Given the description of an element on the screen output the (x, y) to click on. 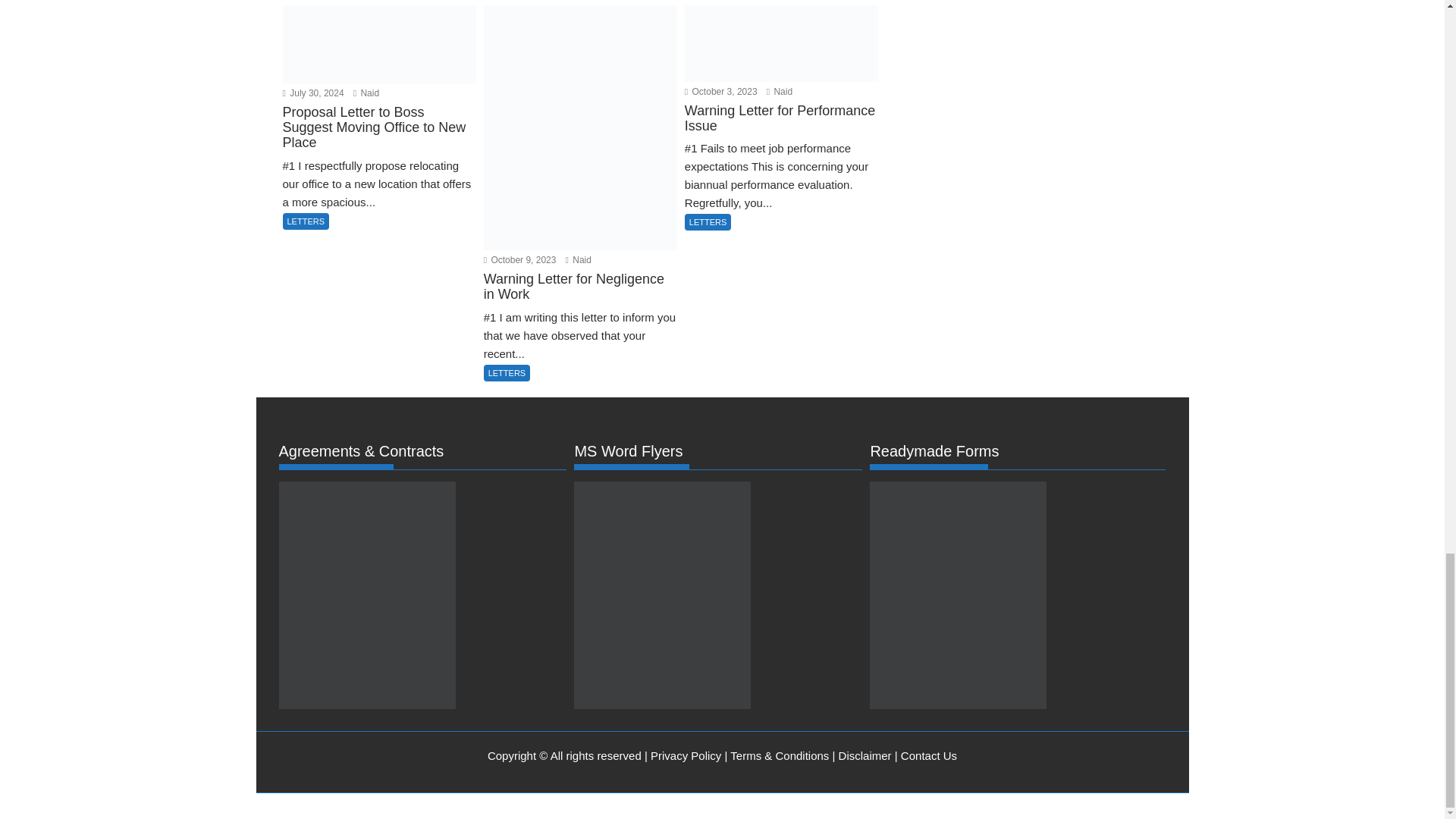
October 9, 2023 (519, 259)
Naid (779, 91)
Naid (578, 259)
LETTERS (507, 372)
Naid (365, 92)
Naid (365, 92)
July 30, 2024 (312, 92)
Naid (578, 259)
Warning Letter for Negligence in Work (580, 296)
LETTERS (305, 221)
